Given the description of an element on the screen output the (x, y) to click on. 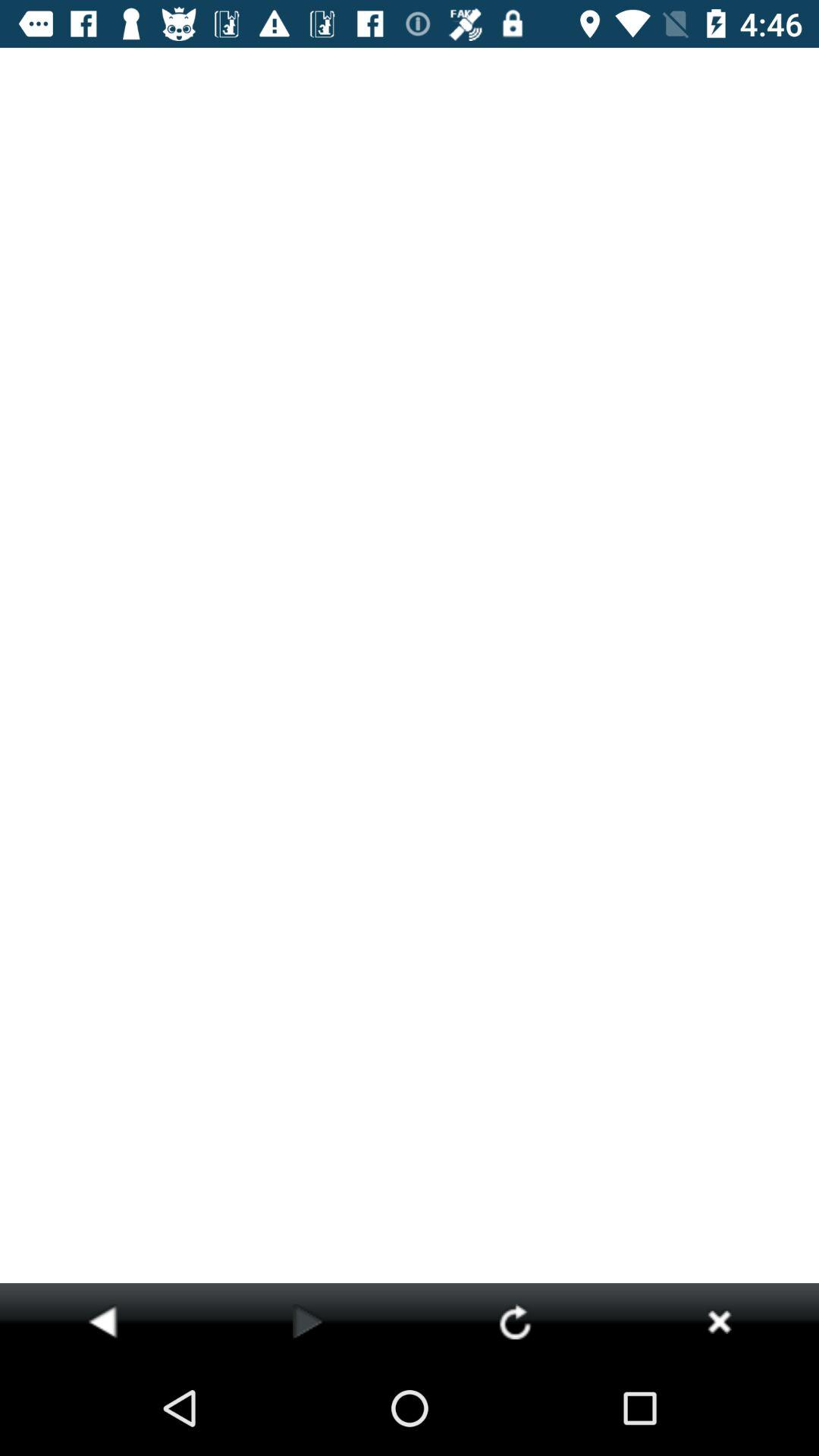
press item at the bottom left corner (102, 1321)
